Given the description of an element on the screen output the (x, y) to click on. 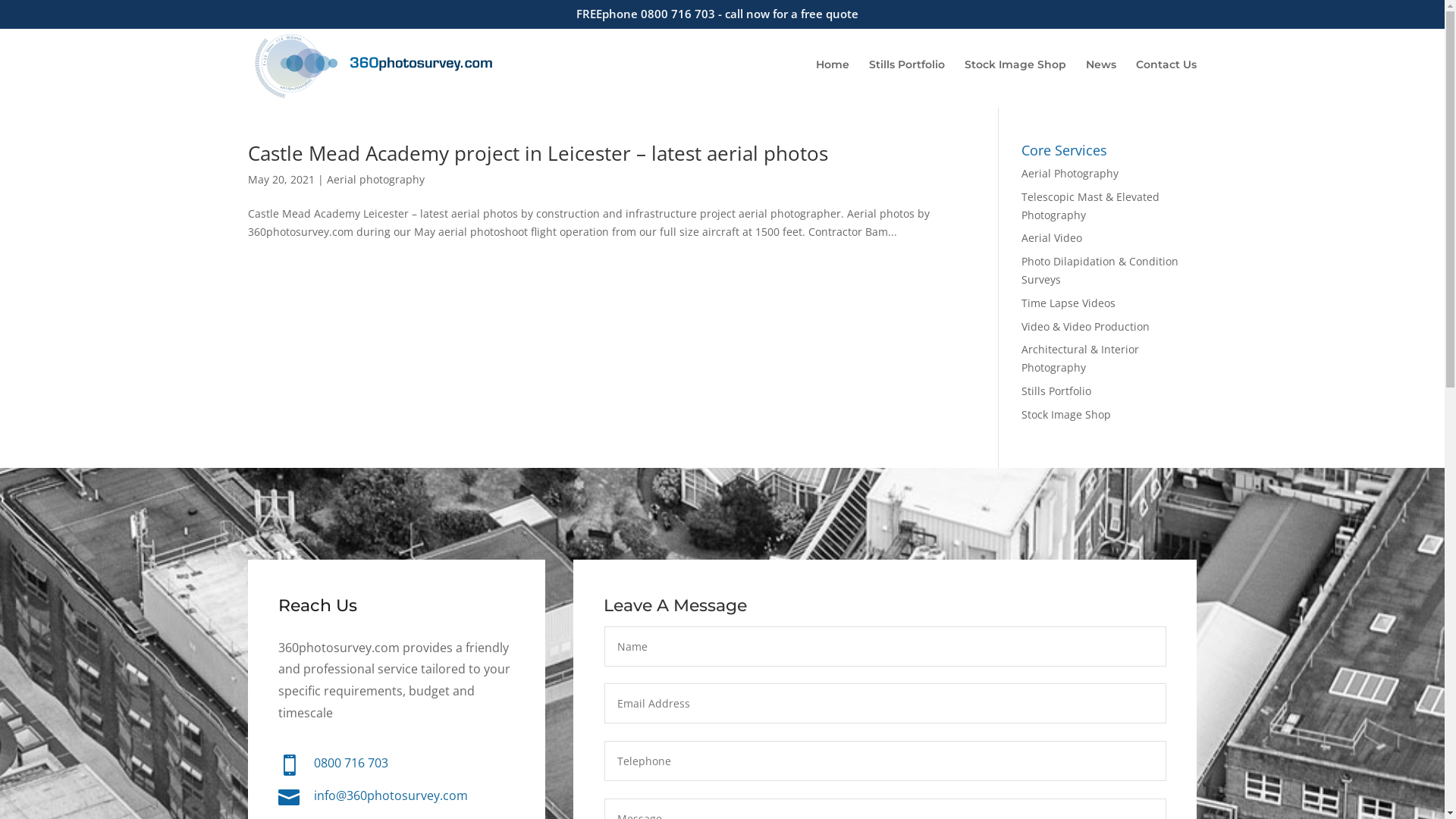
Time Lapse Videos Element type: text (1068, 302)
info@360photosurvey.com Element type: text (390, 795)
Stock Image Shop Element type: text (1015, 79)
Stock Image Shop Element type: text (1065, 414)
Architectural & Interior Photography Element type: text (1080, 358)
Aerial Video Element type: text (1051, 237)
Stills Portfolio Element type: text (1056, 390)
Video & Video Production Element type: text (1085, 326)
News Element type: text (1100, 79)
Contact Us Element type: text (1165, 79)
Photo Dilapidation & Condition Surveys Element type: text (1099, 270)
Telescopic Mast & Elevated Photography Element type: text (1090, 205)
Stills Portfolio Element type: text (906, 79)
Aerial Photography Element type: text (1069, 173)
Home Element type: text (832, 79)
Aerial photography Element type: text (375, 179)
